Given the description of an element on the screen output the (x, y) to click on. 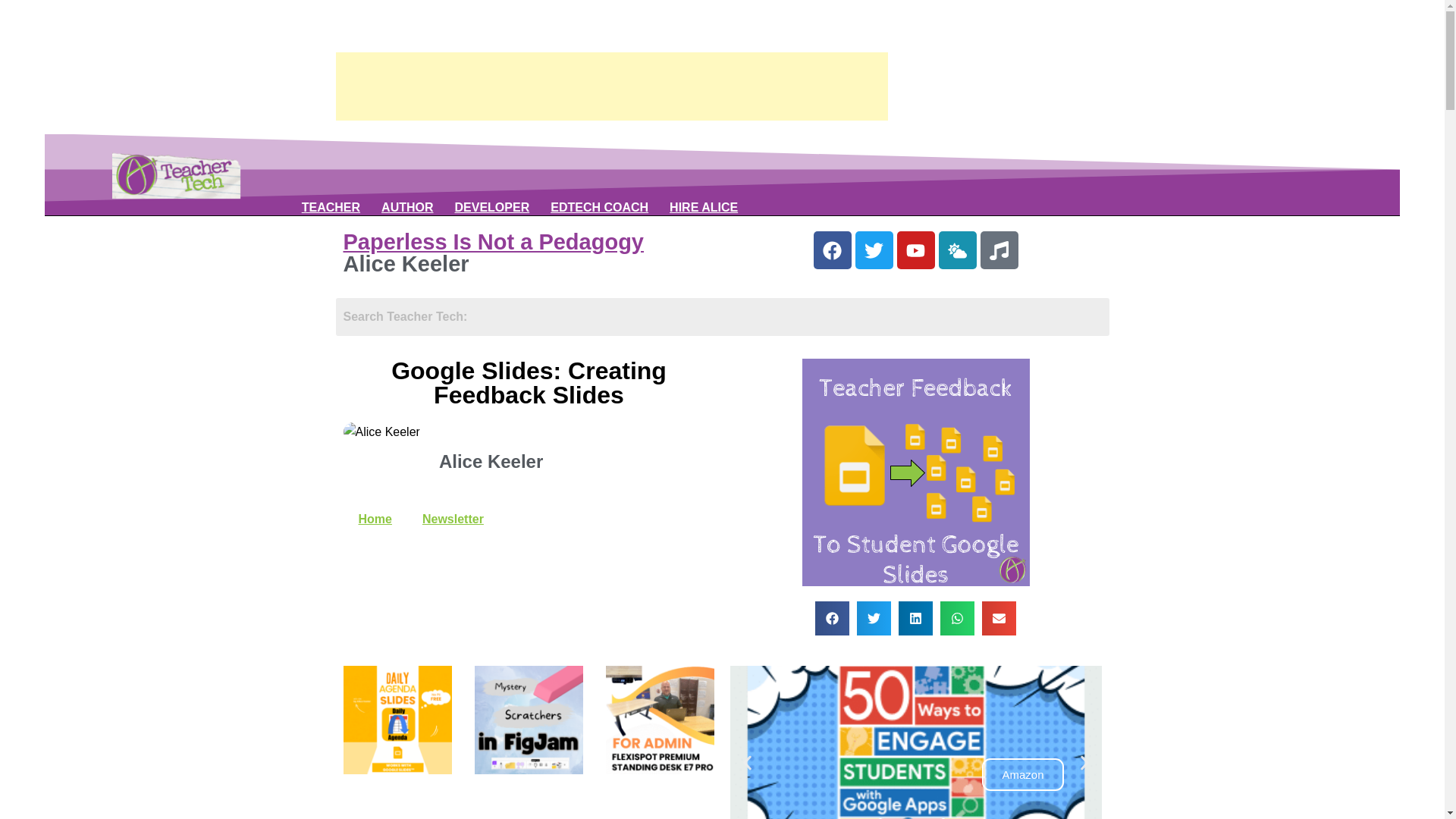
Books (406, 207)
DEVELOPER (491, 207)
Search (721, 316)
TEACHER (330, 207)
AUTHOR (406, 207)
